Given the description of an element on the screen output the (x, y) to click on. 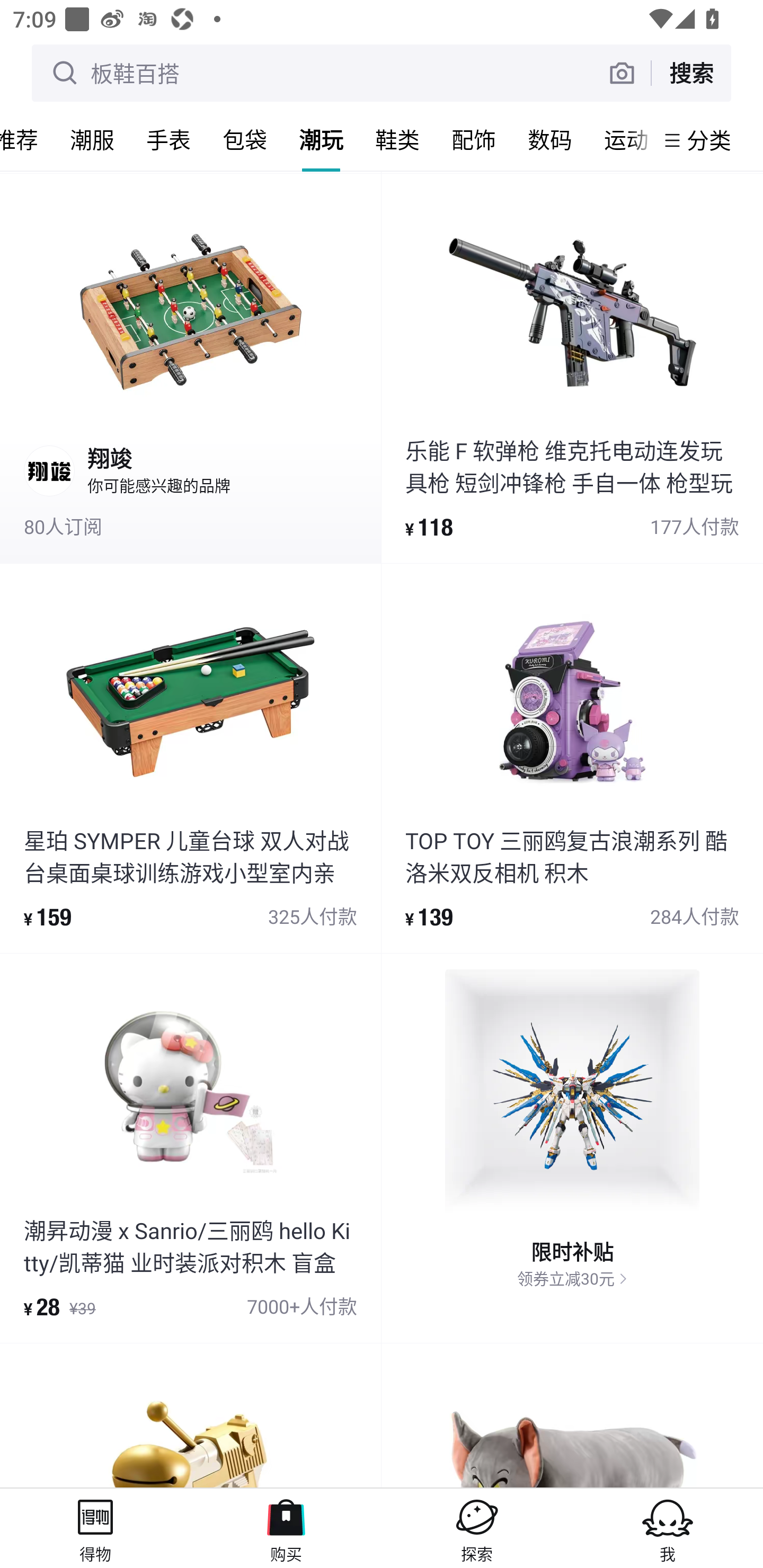
搜索 (690, 72)
潮服 (92, 139)
手表 (168, 139)
包袋 (244, 139)
潮玩 (321, 139)
鞋类 (397, 139)
配饰 (473, 139)
数码 (549, 139)
运动 (621, 139)
分类 (708, 139)
翔竣 你可能感兴趣的品牌 80人订阅 (190, 368)
限时补贴 领券立减30元  (572, 1147)
得物 (95, 1528)
购买 (285, 1528)
探索 (476, 1528)
我 (667, 1528)
